Given the description of an element on the screen output the (x, y) to click on. 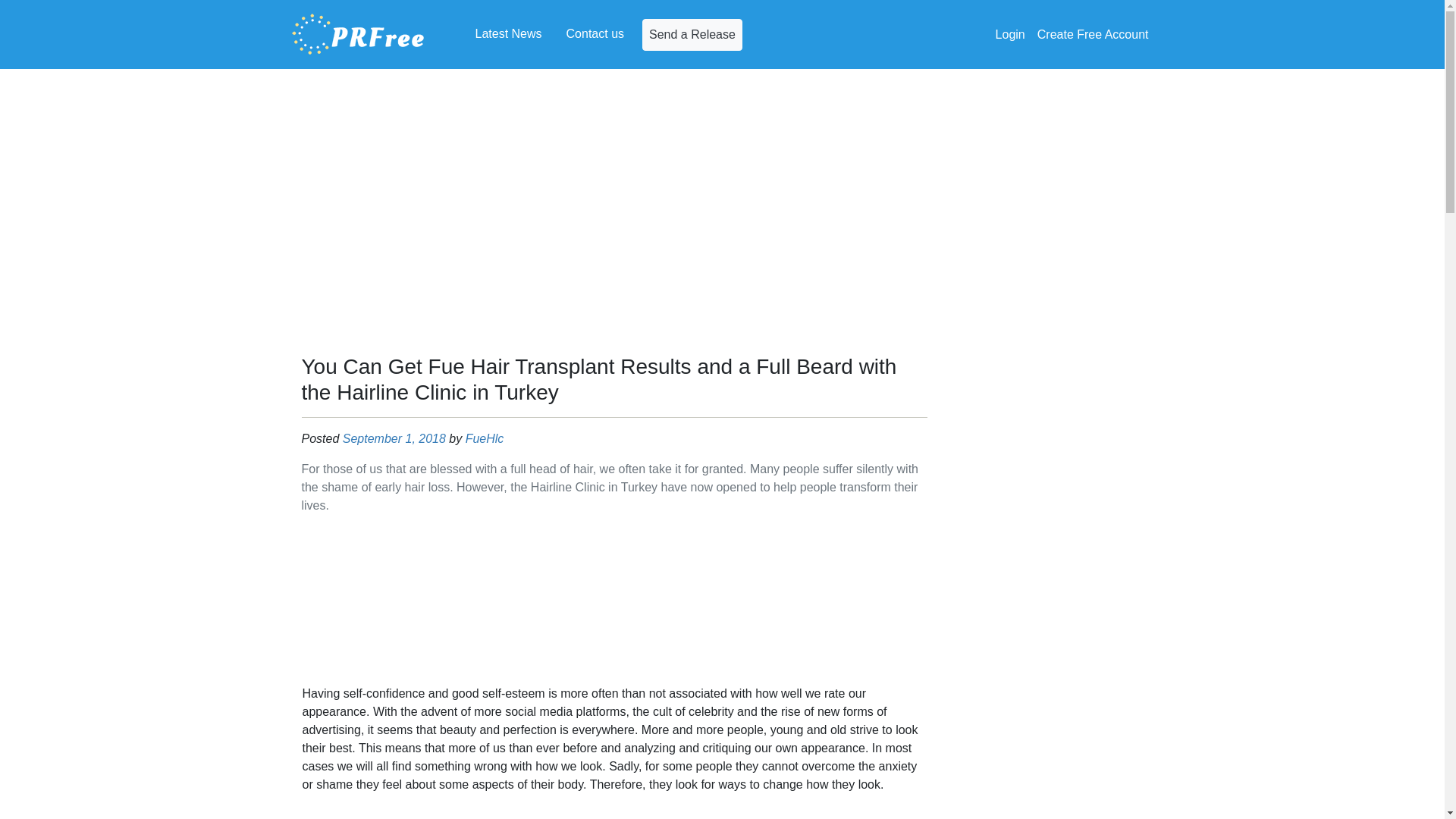
September 1, 2018 (393, 438)
Create Free Account (1092, 34)
Latest News (507, 33)
Advertisement (614, 602)
Contact us (595, 33)
Send a Release (692, 33)
Login (1010, 34)
PFRree (357, 34)
FueHlc (484, 438)
